Given the description of an element on the screen output the (x, y) to click on. 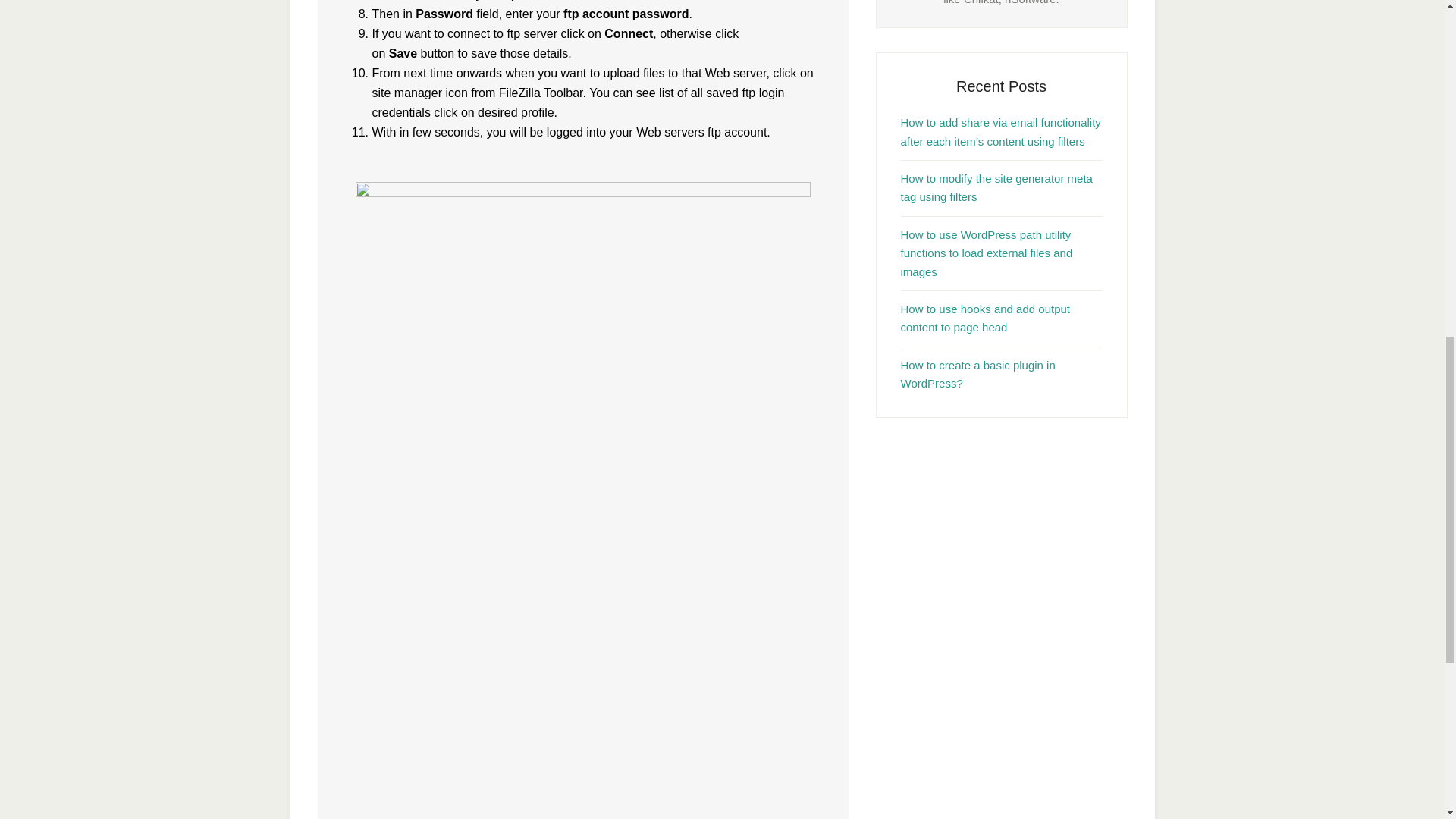
How to create a basic plugin in WordPress? (978, 373)
How to modify the site generator meta tag using filters (997, 187)
How to use hooks and add output content to page head (985, 317)
